Given the description of an element on the screen output the (x, y) to click on. 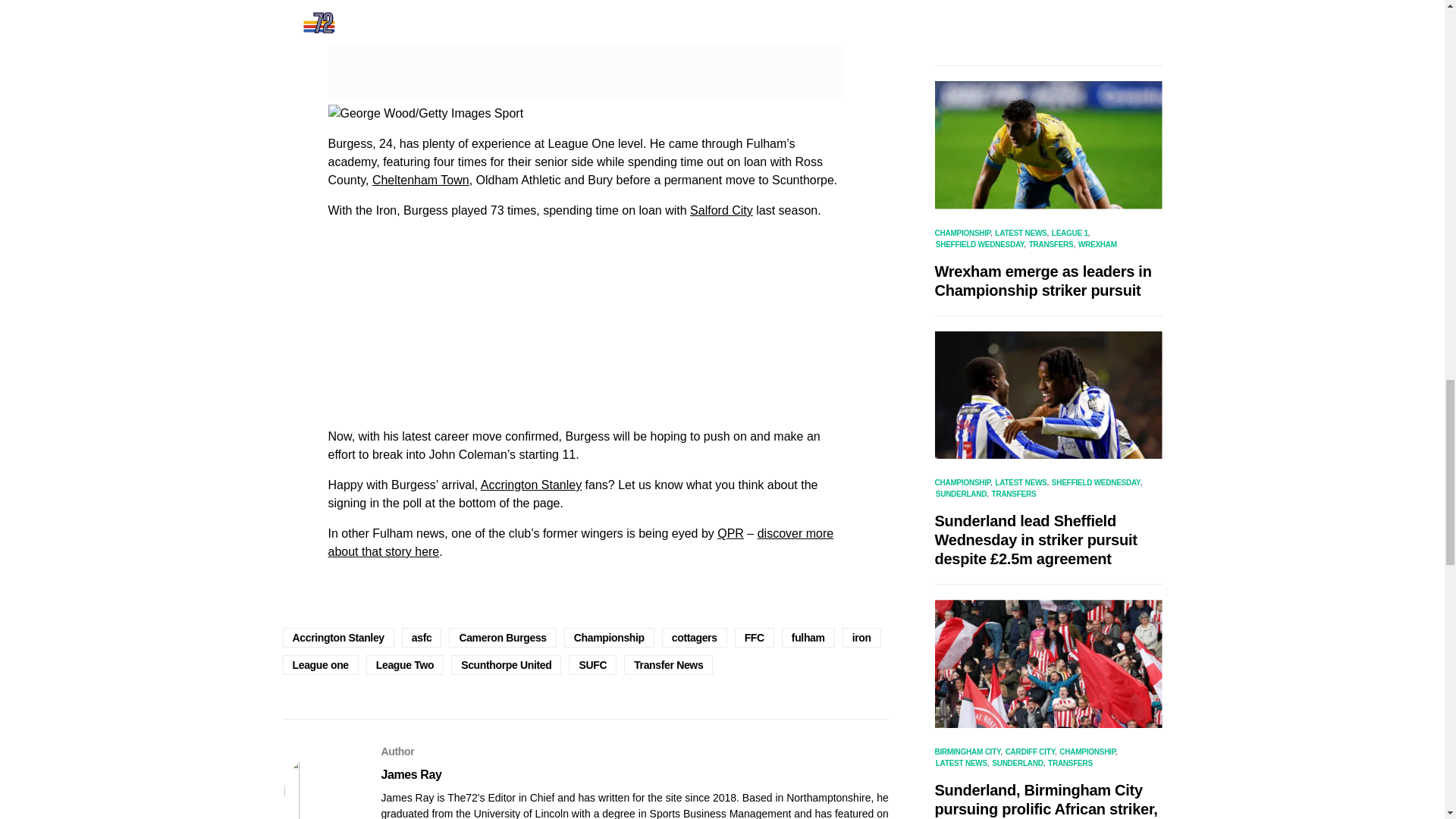
Rotherham United v Accrington Stanley - Sky Bet League One (424, 113)
